Given the description of an element on the screen output the (x, y) to click on. 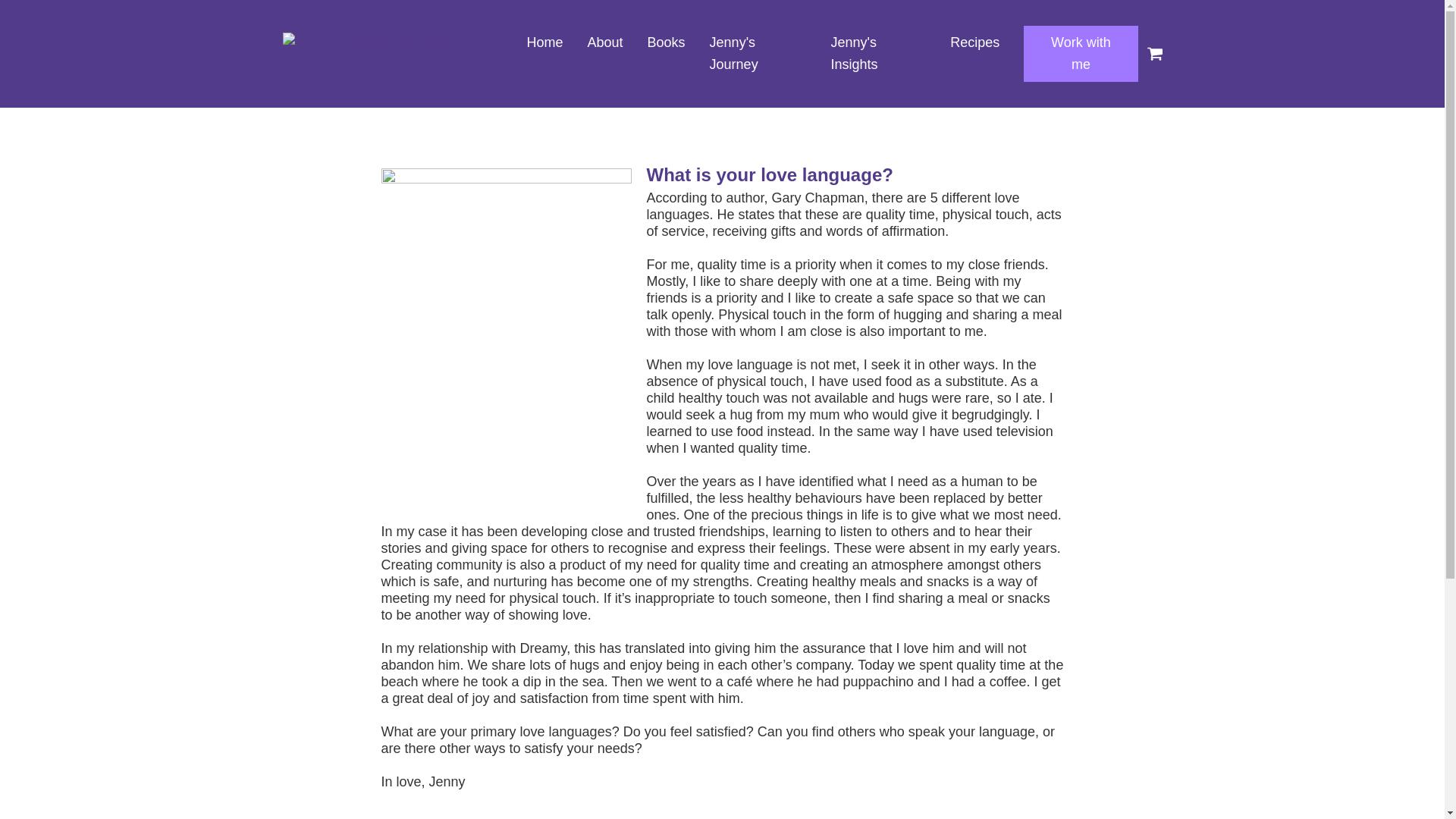
Jenny's Journey (757, 53)
About (604, 42)
Home (544, 42)
Books (665, 42)
Jenny's Insights (877, 53)
Recipes (974, 42)
Work with me (1080, 53)
